Given the description of an element on the screen output the (x, y) to click on. 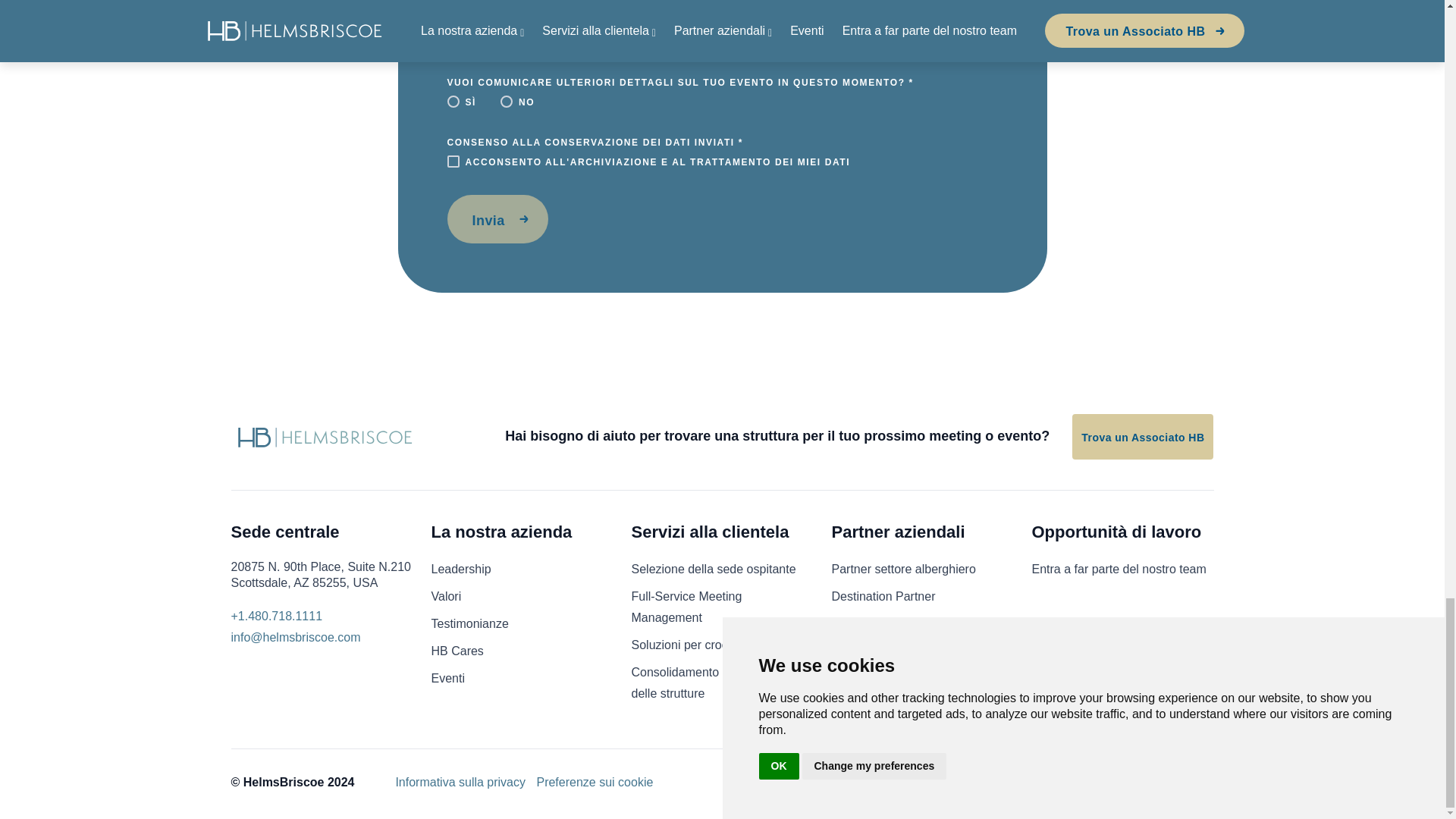
Invia (497, 218)
Invia (497, 218)
